Given the description of an element on the screen output the (x, y) to click on. 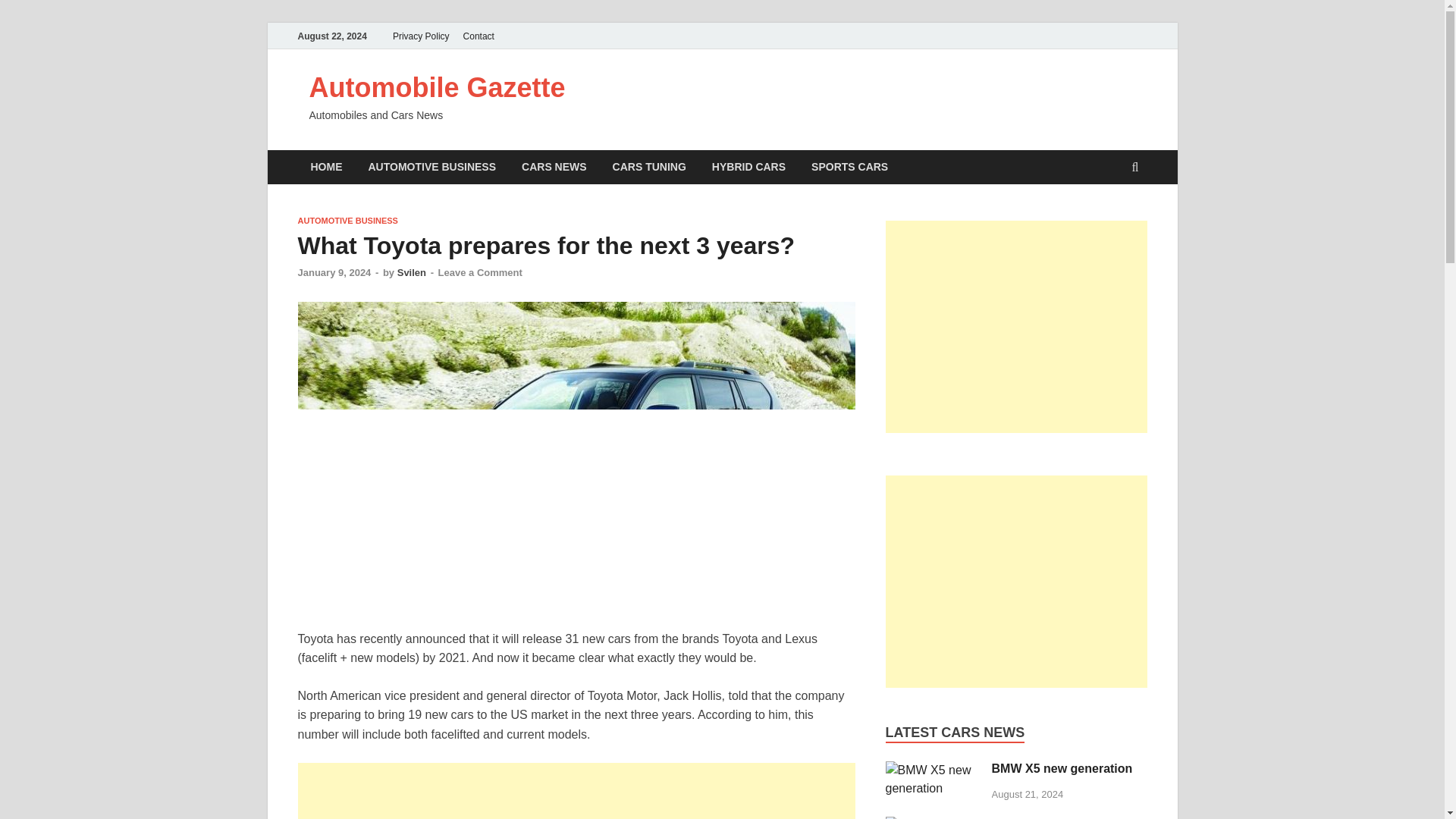
Svilen (411, 272)
Privacy Policy (421, 35)
CARS NEWS (553, 166)
Advertisement (575, 790)
Contact (478, 35)
BMW X5 new generation (932, 788)
CARS TUNING (648, 166)
January 9, 2024 (334, 272)
HOME (326, 166)
Automobile Gazette (437, 87)
